Given the description of an element on the screen output the (x, y) to click on. 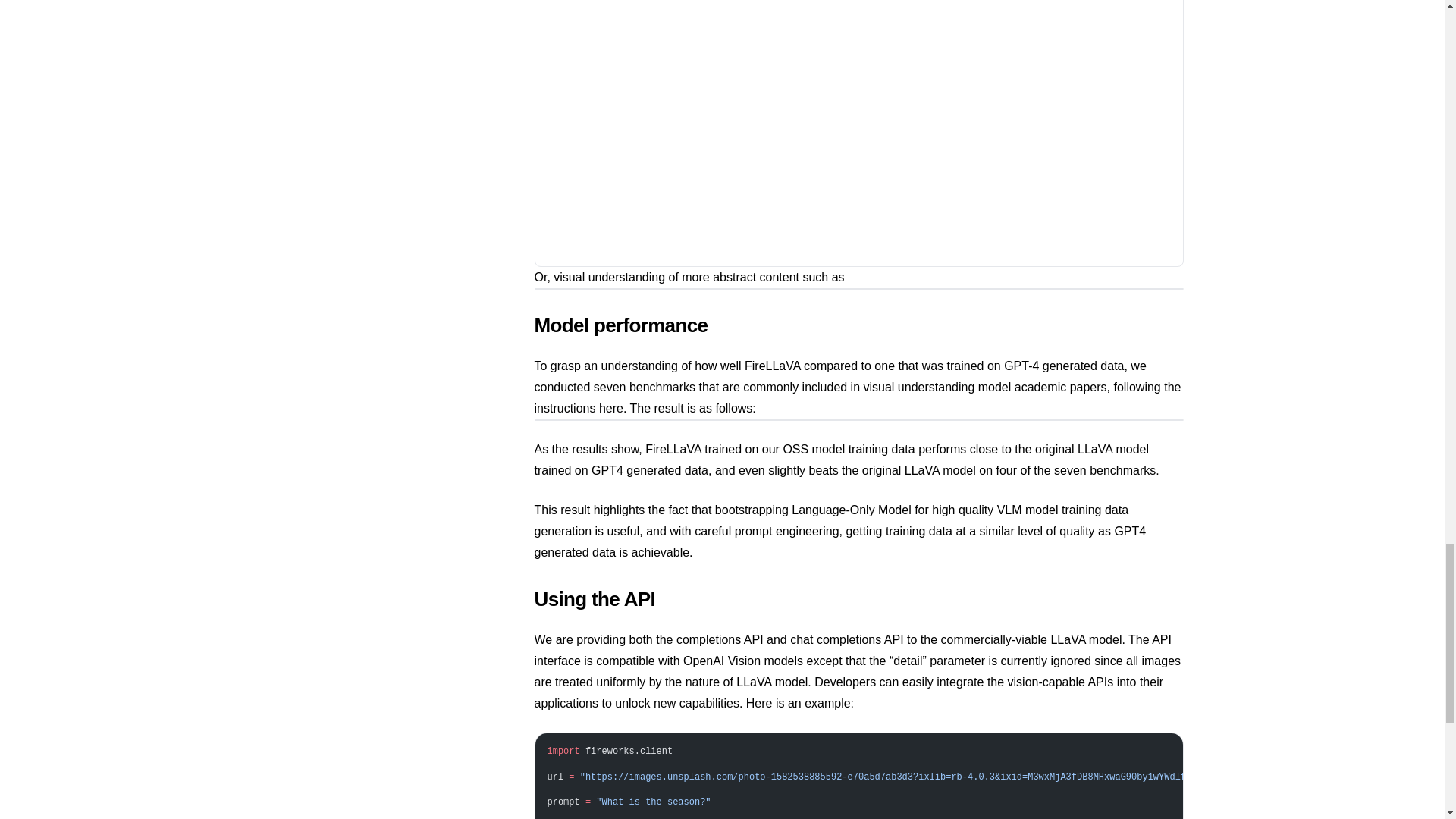
Using the API (858, 599)
Model performance (858, 325)
here (610, 408)
